Given the description of an element on the screen output the (x, y) to click on. 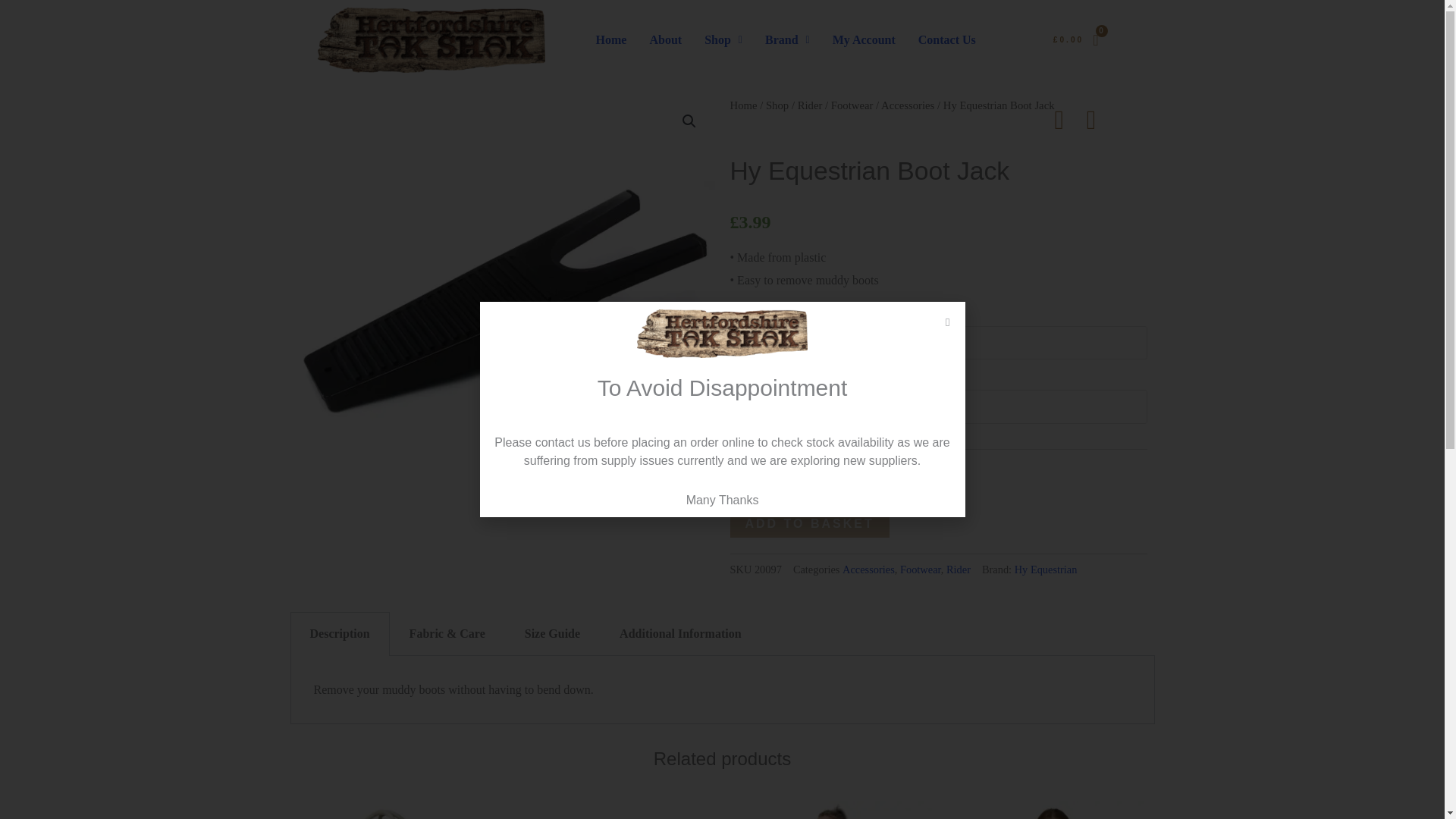
My Account (864, 40)
Contact Us (947, 40)
1 (780, 477)
Home (612, 40)
Brand (787, 40)
Shop (723, 40)
About (665, 40)
